Given the description of an element on the screen output the (x, y) to click on. 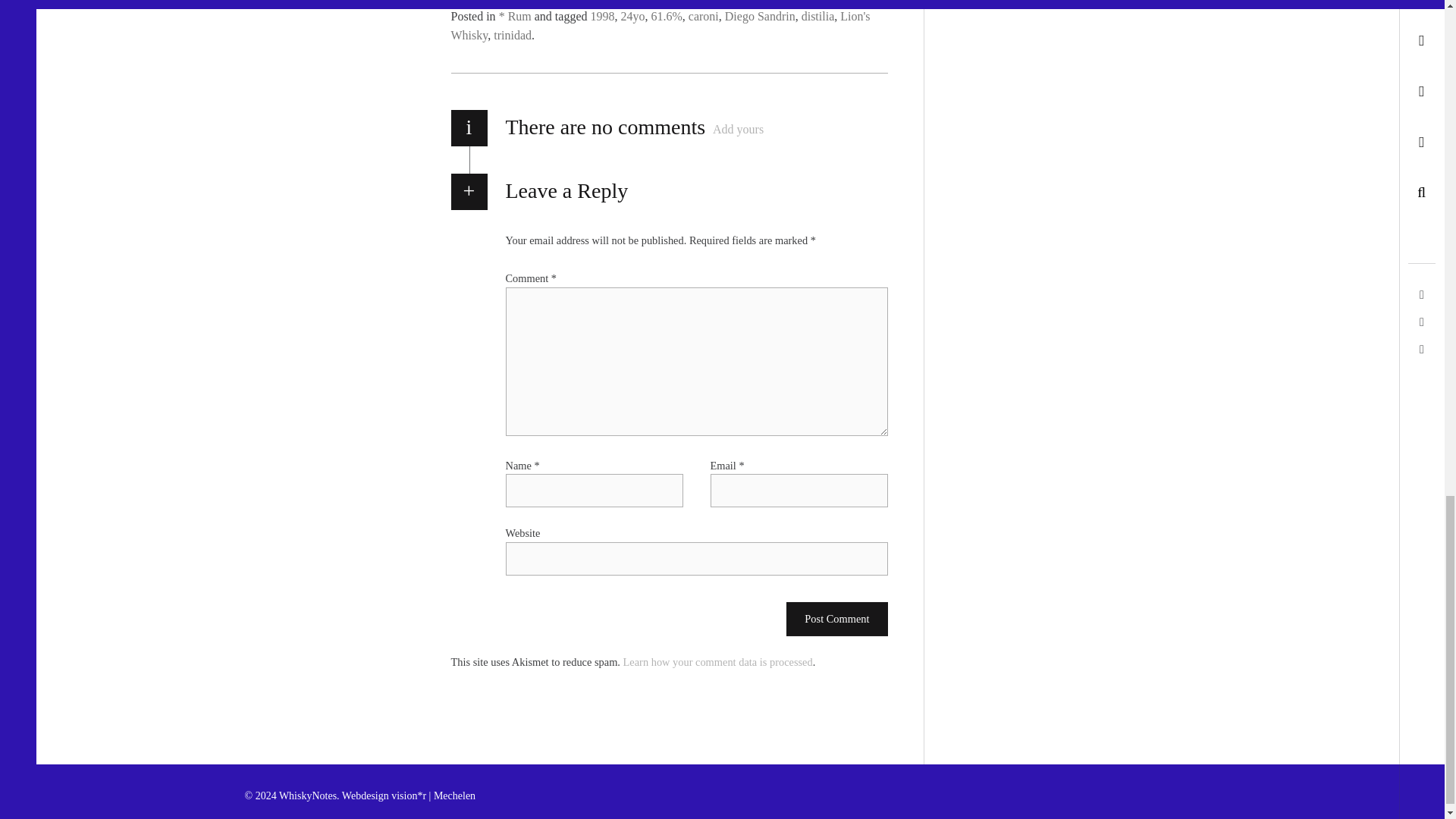
Post Comment (836, 619)
